Given the description of an element on the screen output the (x, y) to click on. 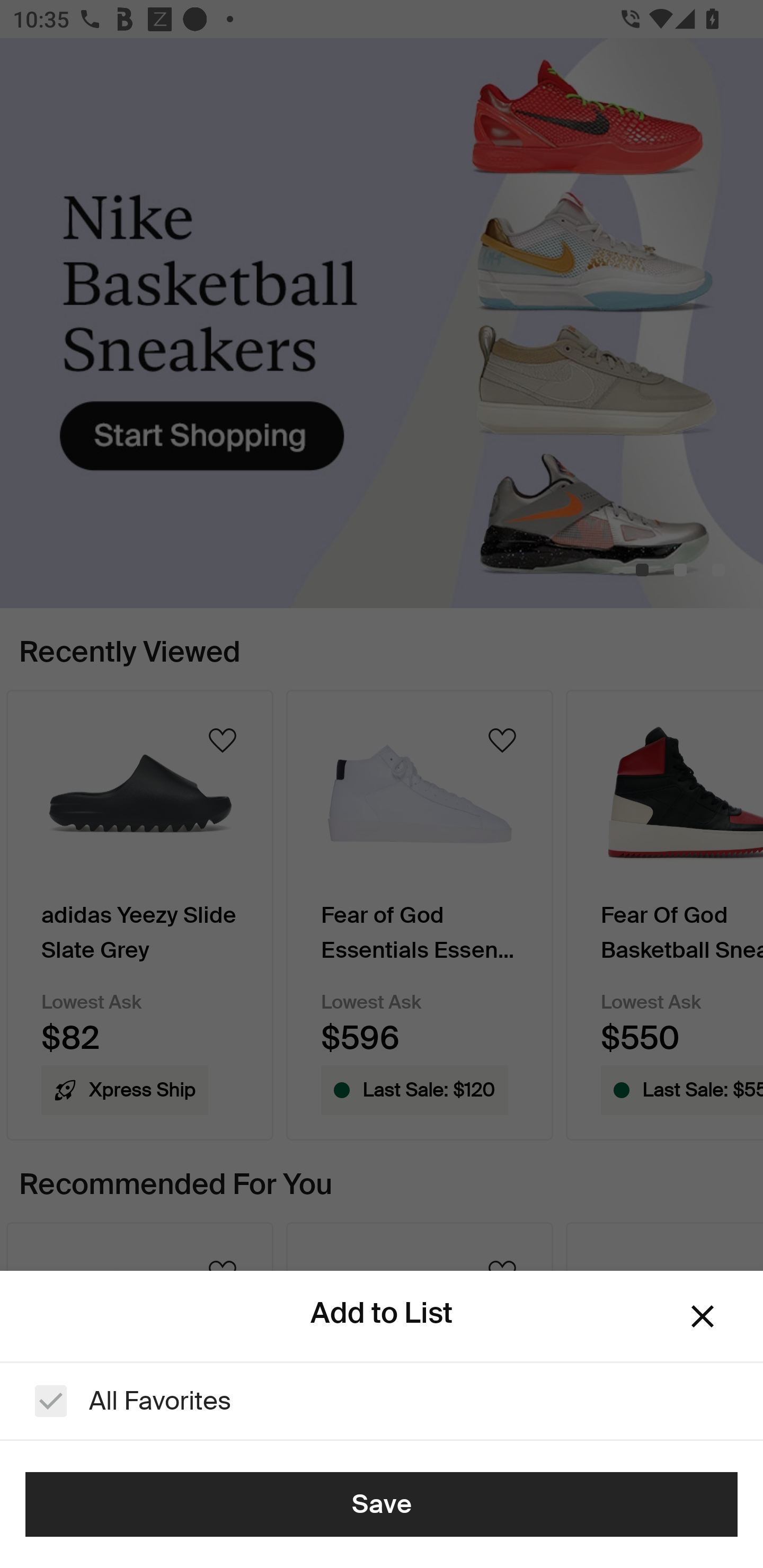
Dismiss (702, 1315)
All Favorites (381, 1400)
Save (381, 1504)
